Given the description of an element on the screen output the (x, y) to click on. 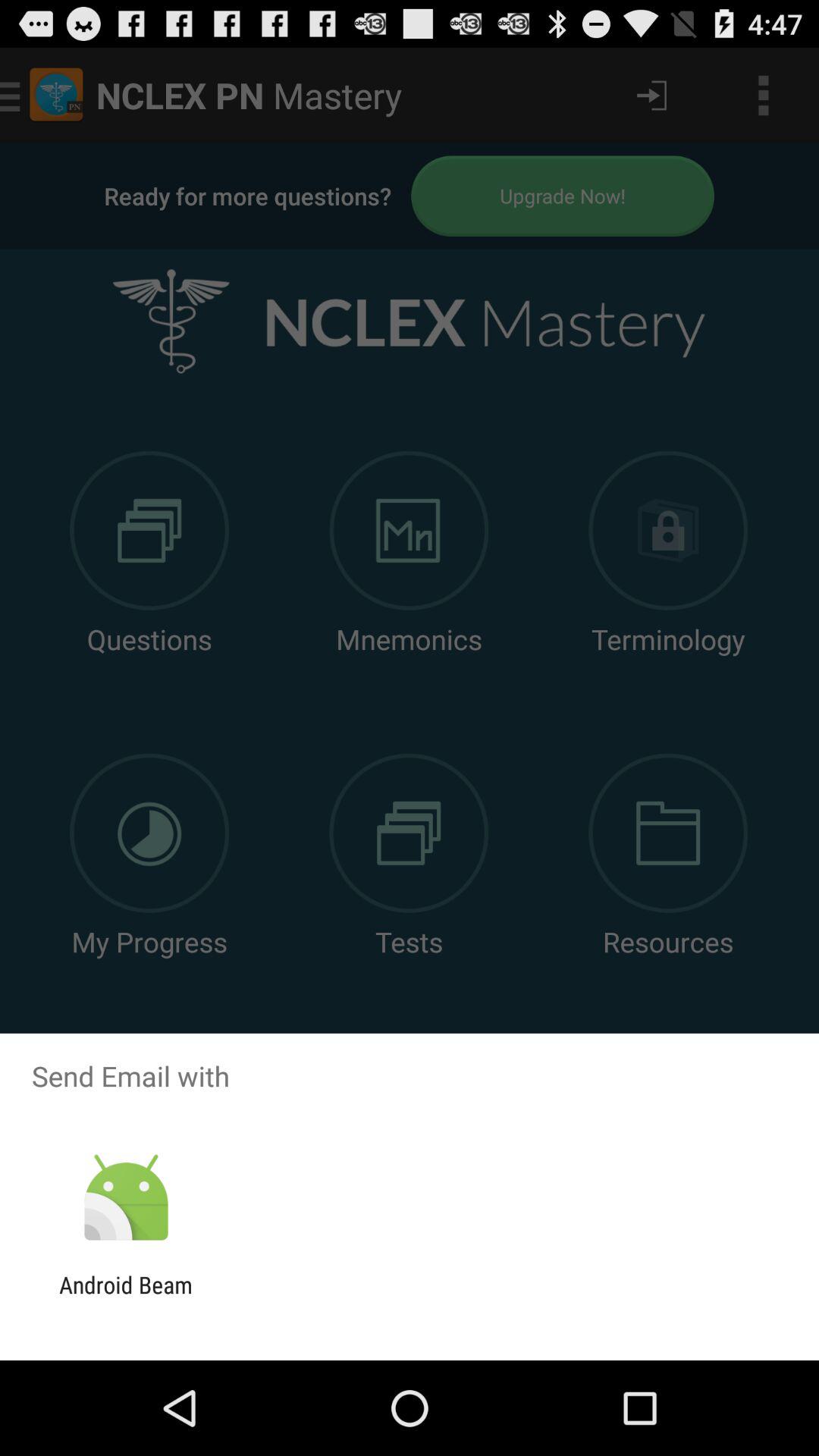
turn off the item above android beam icon (126, 1198)
